Given the description of an element on the screen output the (x, y) to click on. 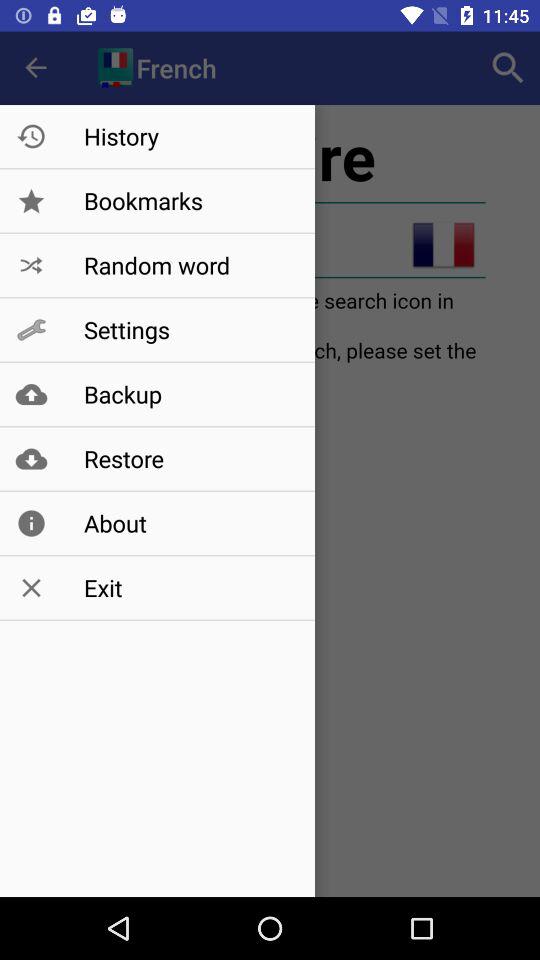
turn off exit (188, 587)
